Given the description of an element on the screen output the (x, y) to click on. 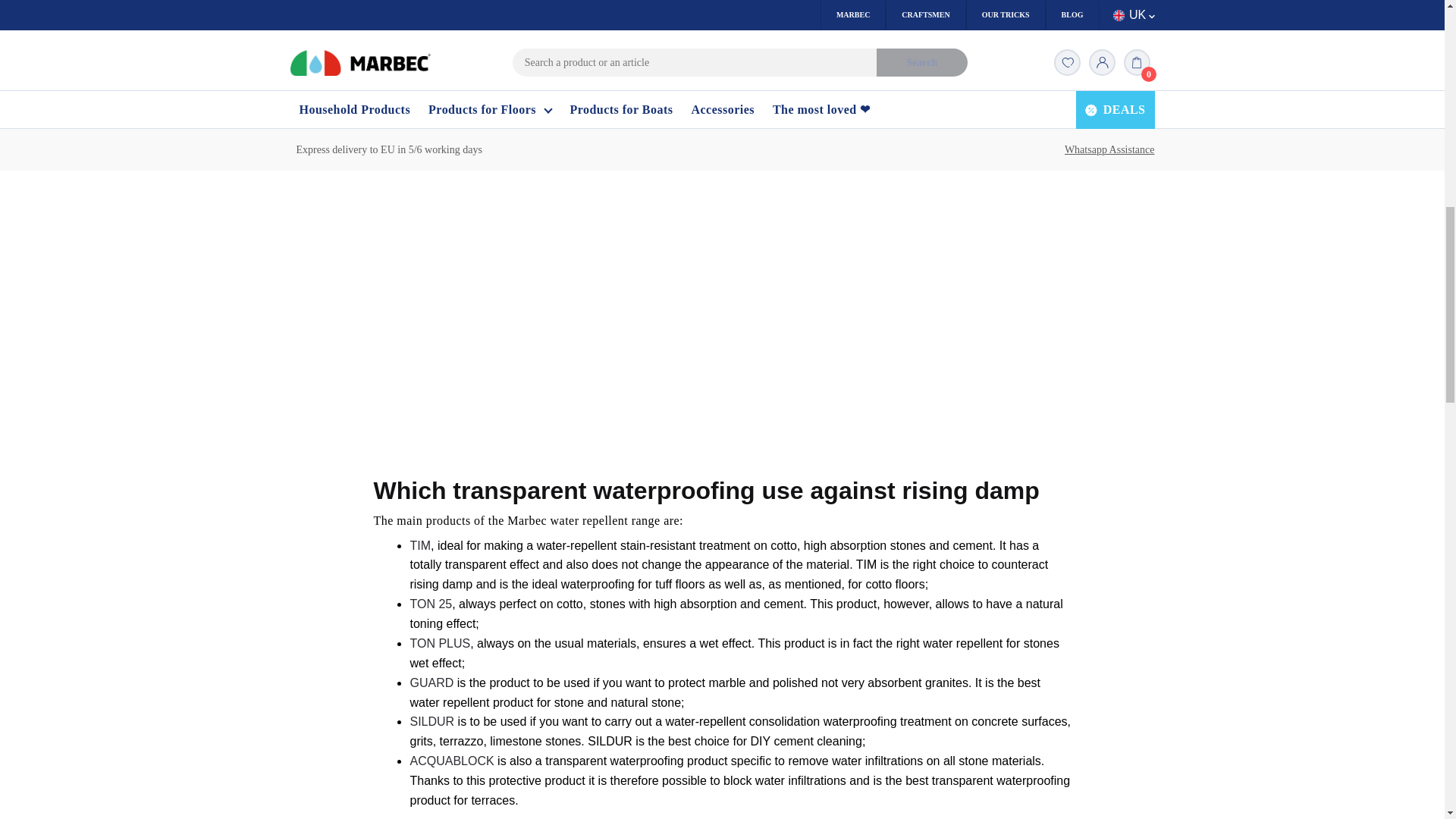
TON 25 (430, 603)
SILDUR (431, 721)
ACQUABLOCK (451, 760)
GUARD (430, 682)
TON PLUS (439, 643)
TIM (419, 545)
